Given the description of an element on the screen output the (x, y) to click on. 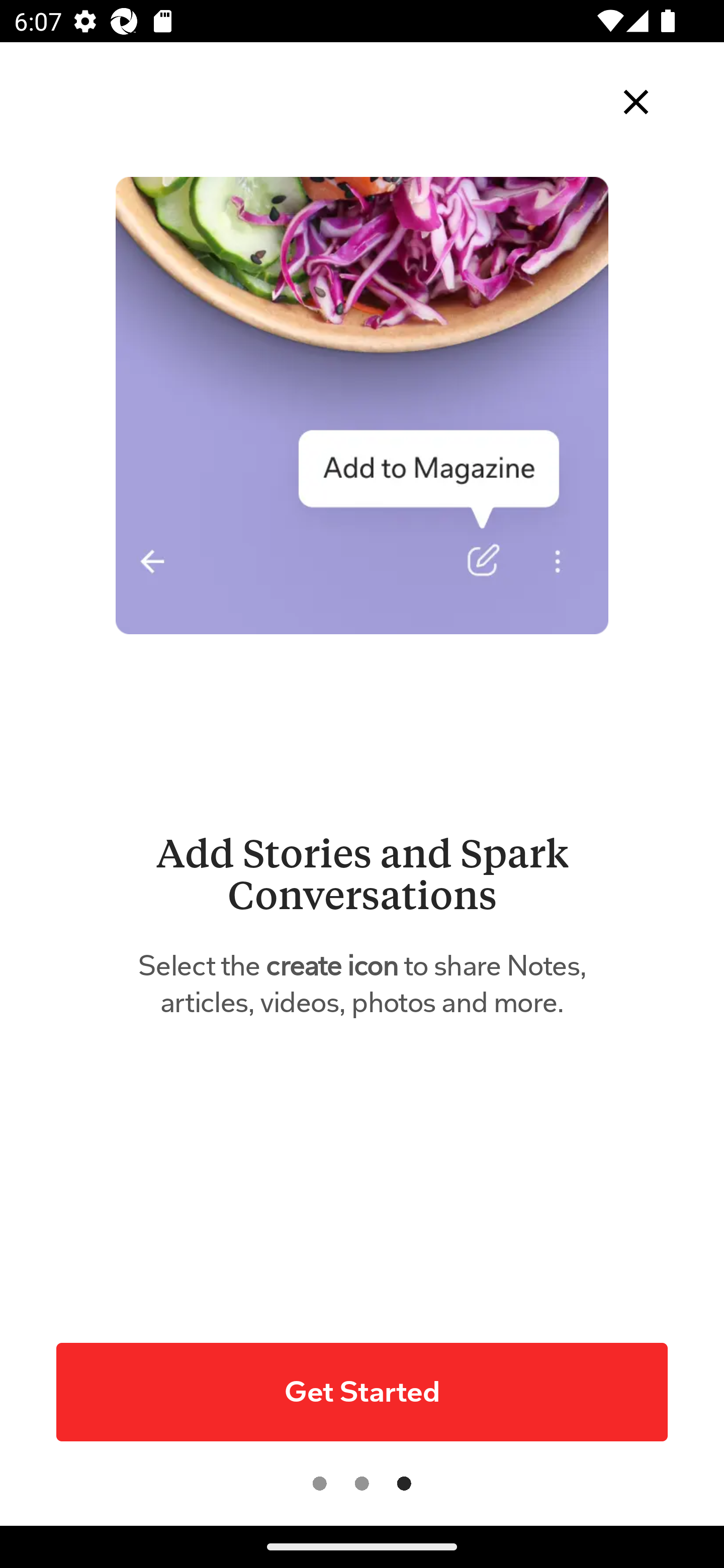
Get Started (361, 1391)
